Given the description of an element on the screen output the (x, y) to click on. 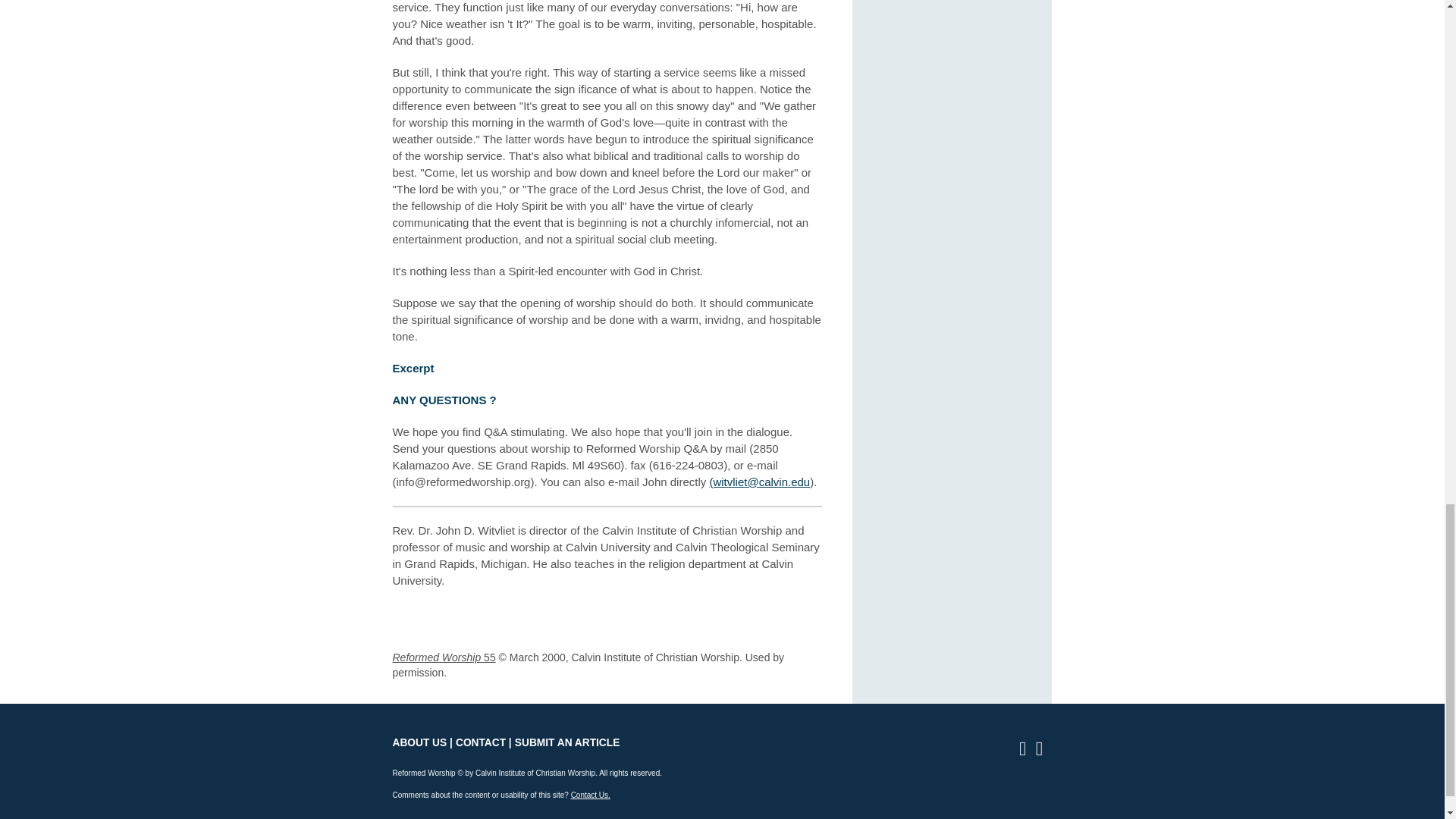
CONTACT (480, 742)
SUBMIT AN ARTICLE (567, 742)
ABOUT US (419, 742)
Twitter (1043, 750)
Reformed Worship 55 (444, 657)
